Given the description of an element on the screen output the (x, y) to click on. 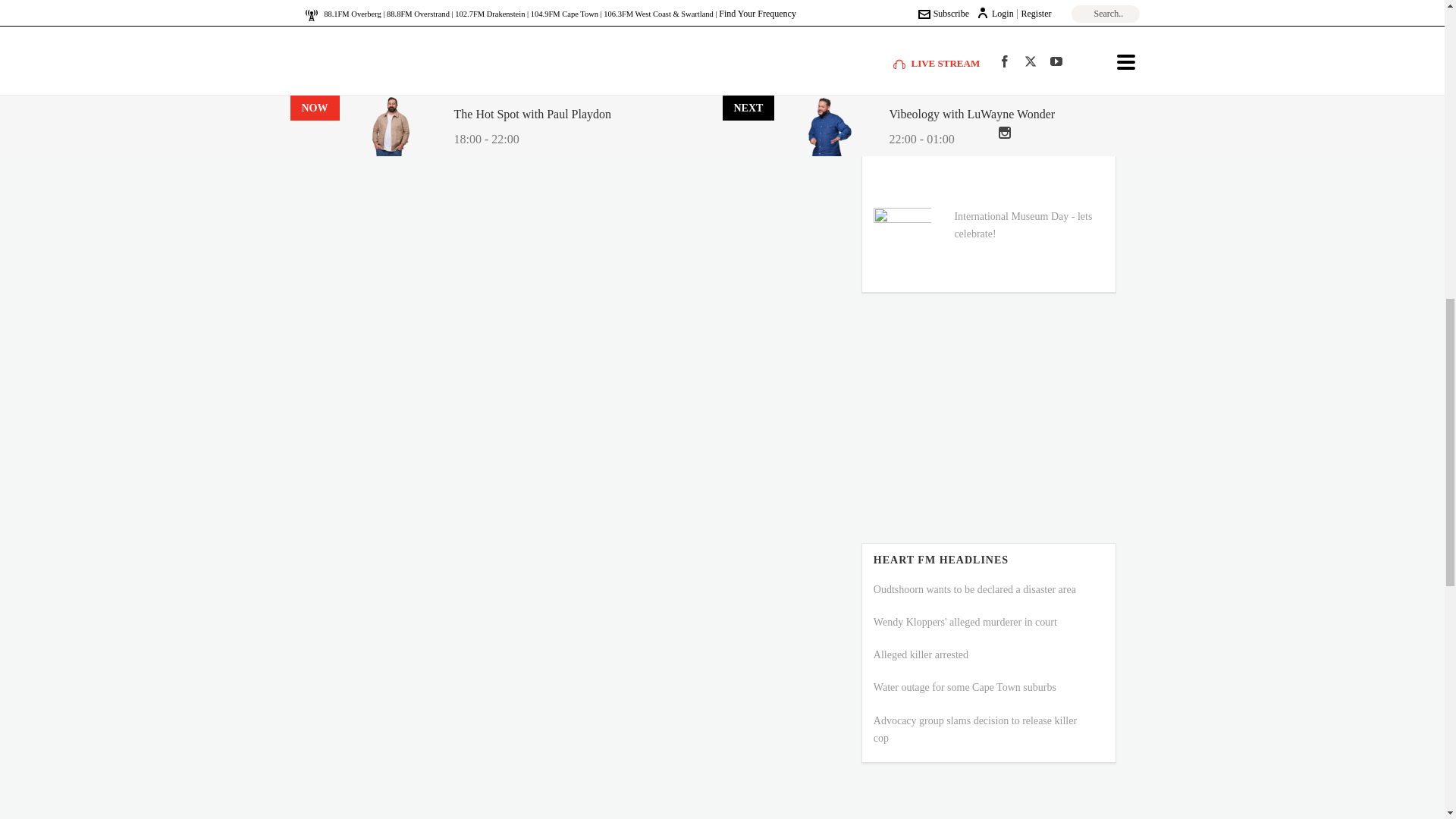
Oudtshoorn wants to be declared a disaster area (974, 589)
International Day Of Biological Diversity (902, 151)
Alleged killer arrested (920, 654)
tempimagepvzsmt (902, 67)
Wendy Kloppers' alleged murderer in court (965, 622)
Advocacy group slams decision to release killer cop (975, 728)
museum (902, 237)
International Museum Day - lets celebrate! (1022, 224)
Water outage for some Cape Town suburbs (965, 686)
International Day of Biological Diversity (1019, 140)
